Given the description of an element on the screen output the (x, y) to click on. 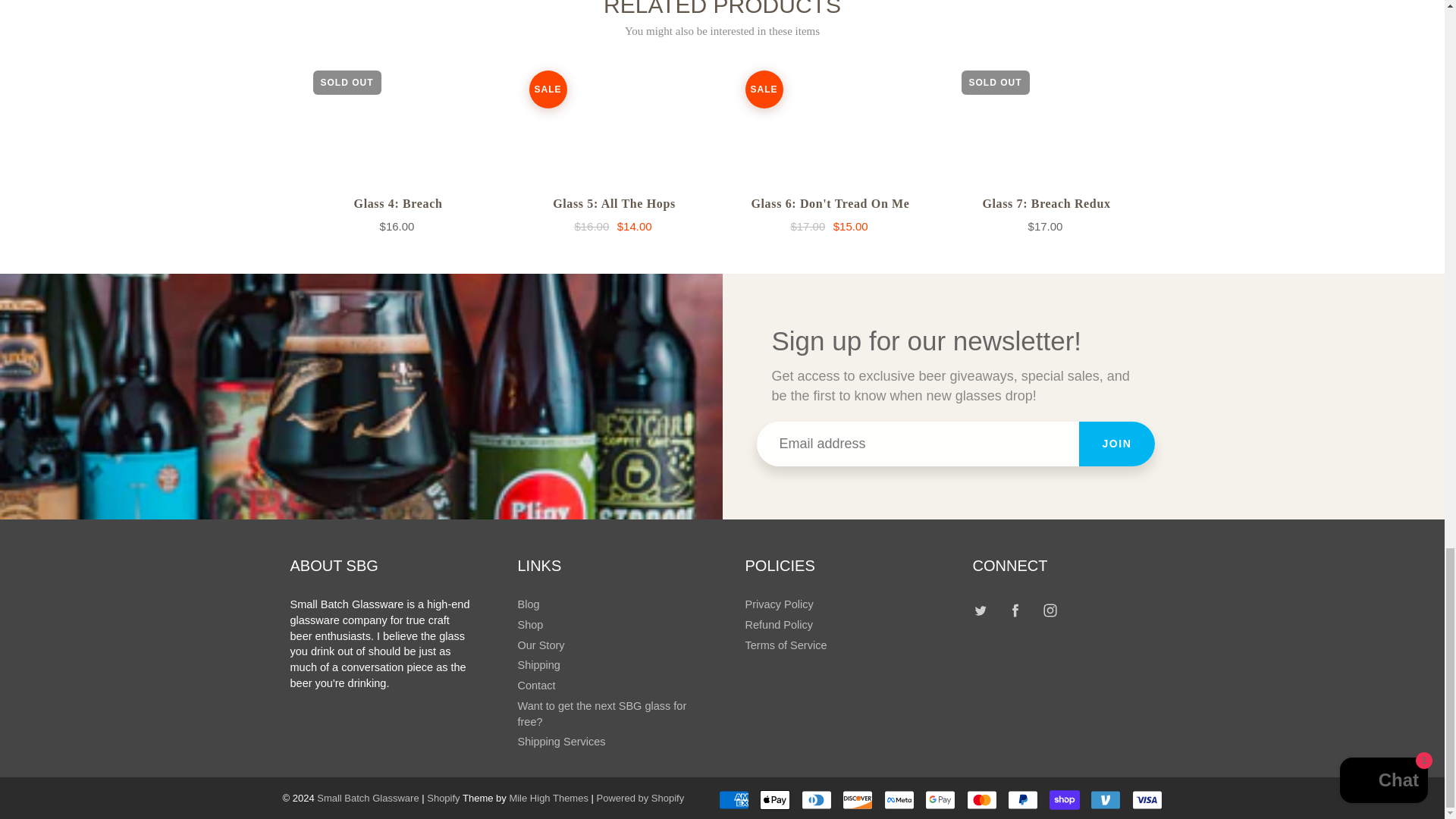
Discover (857, 799)
Apple Pay (775, 799)
Mastercard (981, 799)
Diners Club (816, 799)
Meta Pay (898, 799)
Google Pay (939, 799)
Shop Pay (1064, 799)
Visa (1146, 799)
American Express (734, 799)
Venmo (1105, 799)
PayPal (1022, 799)
